Given the description of an element on the screen output the (x, y) to click on. 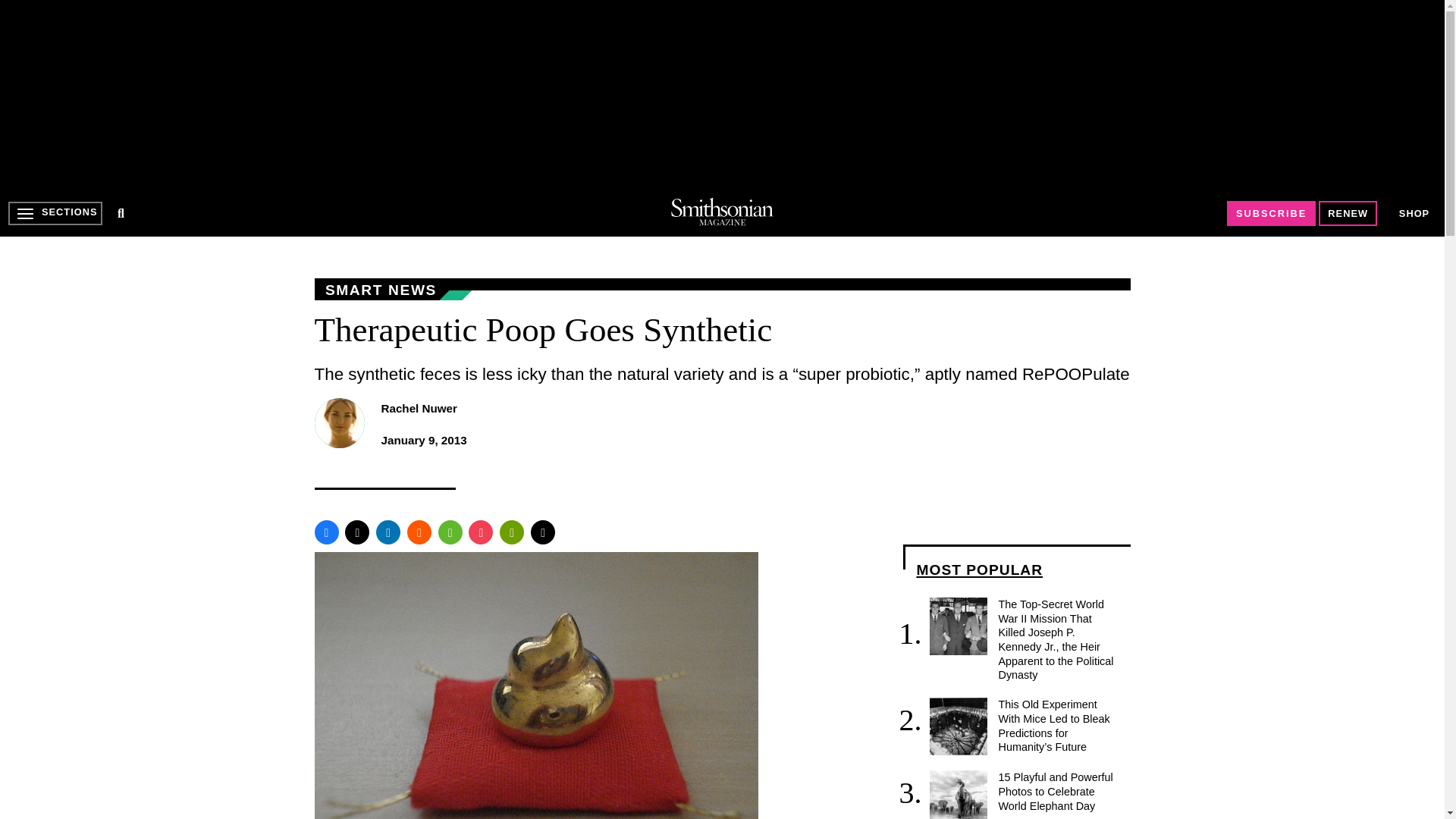
Reddit (418, 532)
Email (542, 532)
WhatsApp (450, 532)
SECTIONS (55, 213)
LinkedIn (387, 532)
Twitter (357, 532)
Facebook (325, 532)
Pocket (480, 532)
Print (511, 532)
3rd party ad content (721, 94)
